Given the description of an element on the screen output the (x, y) to click on. 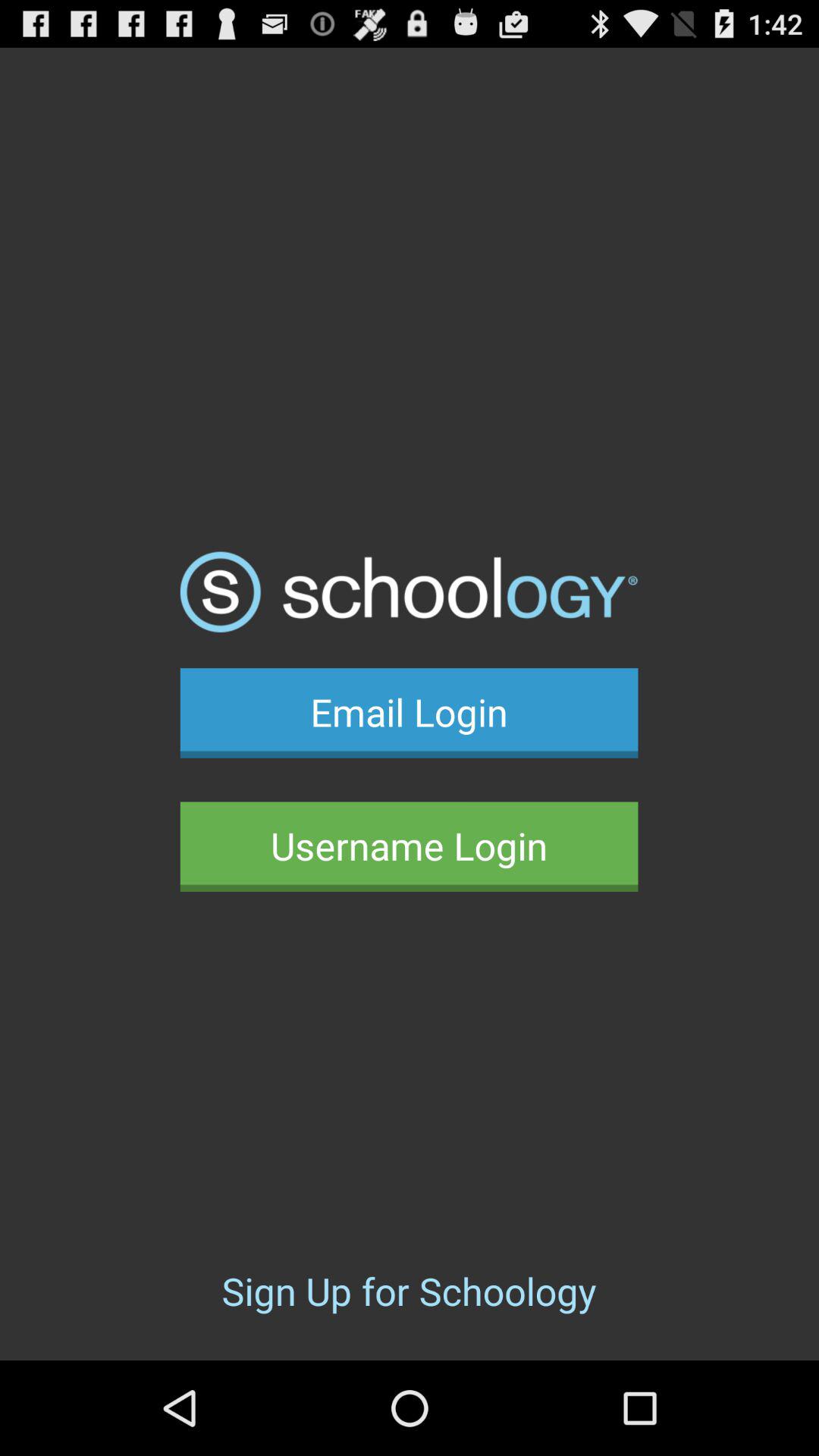
press sign up for icon (408, 1290)
